Given the description of an element on the screen output the (x, y) to click on. 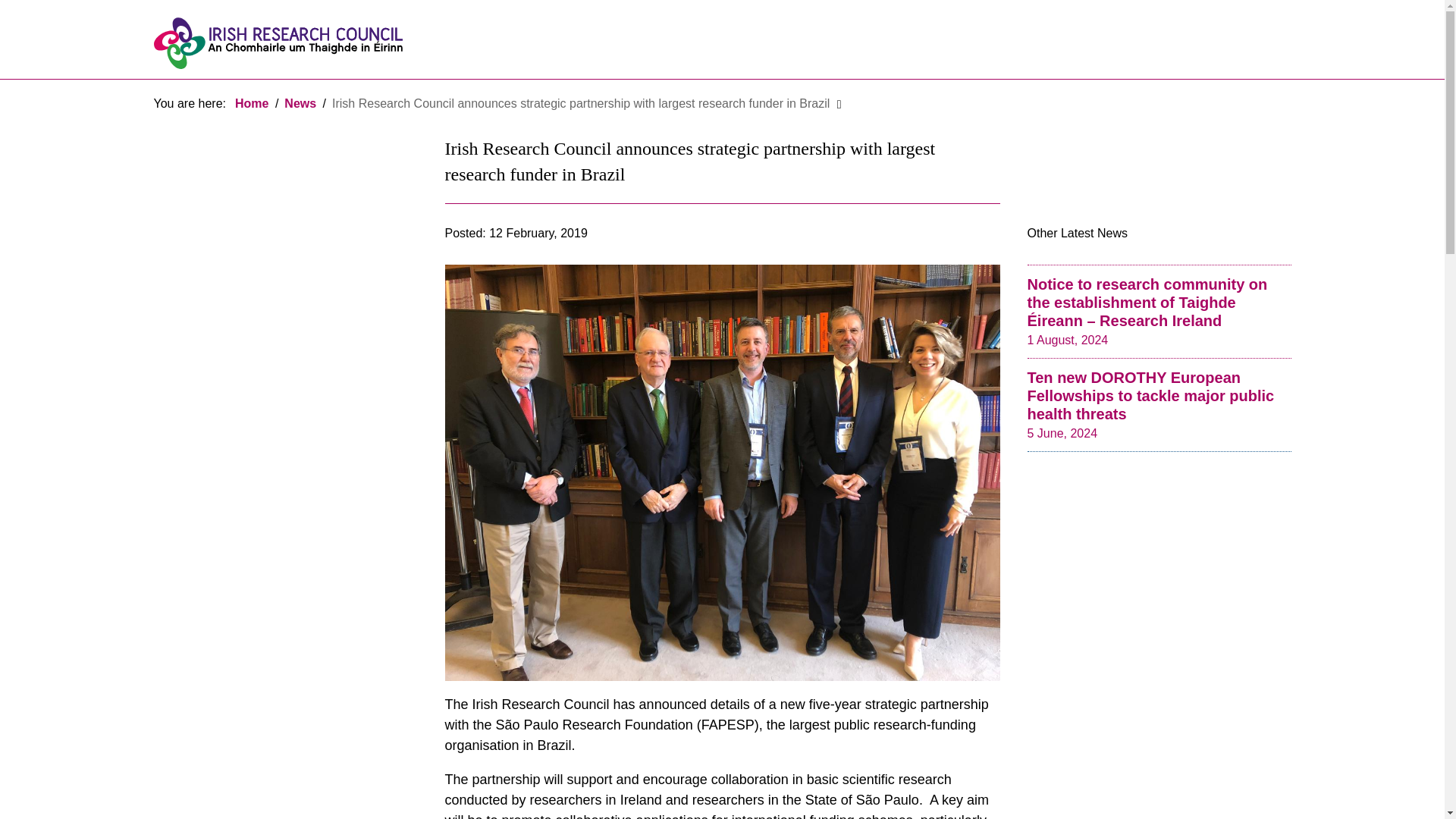
News (299, 103)
Irish Research Council (276, 43)
Home (250, 103)
